Given the description of an element on the screen output the (x, y) to click on. 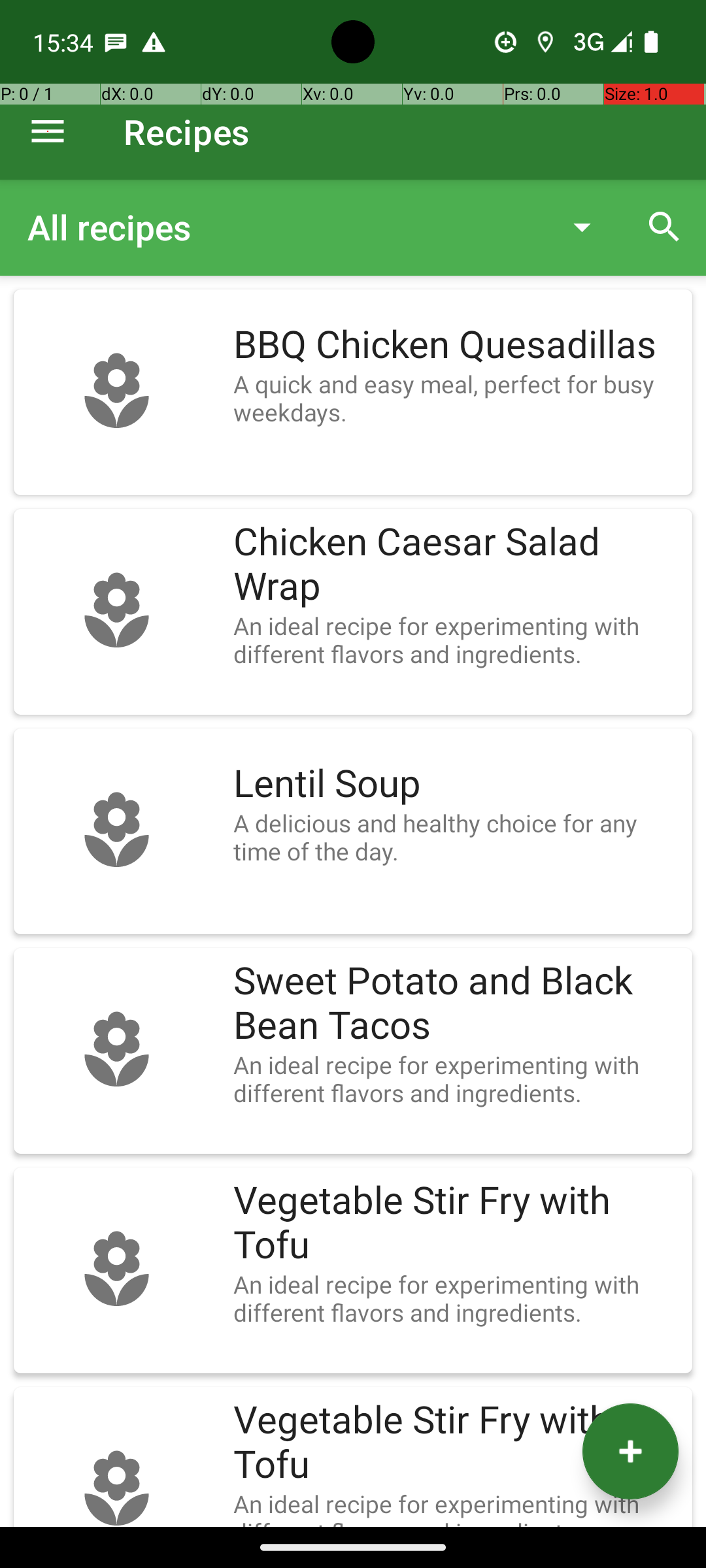
Chicken Caesar Salad Wrap Element type: android.widget.TextView (455, 564)
Sweet Potato and Black Bean Tacos Element type: android.widget.TextView (455, 1003)
Vegetable Stir Fry with Tofu Element type: android.widget.TextView (455, 1222)
